Given the description of an element on the screen output the (x, y) to click on. 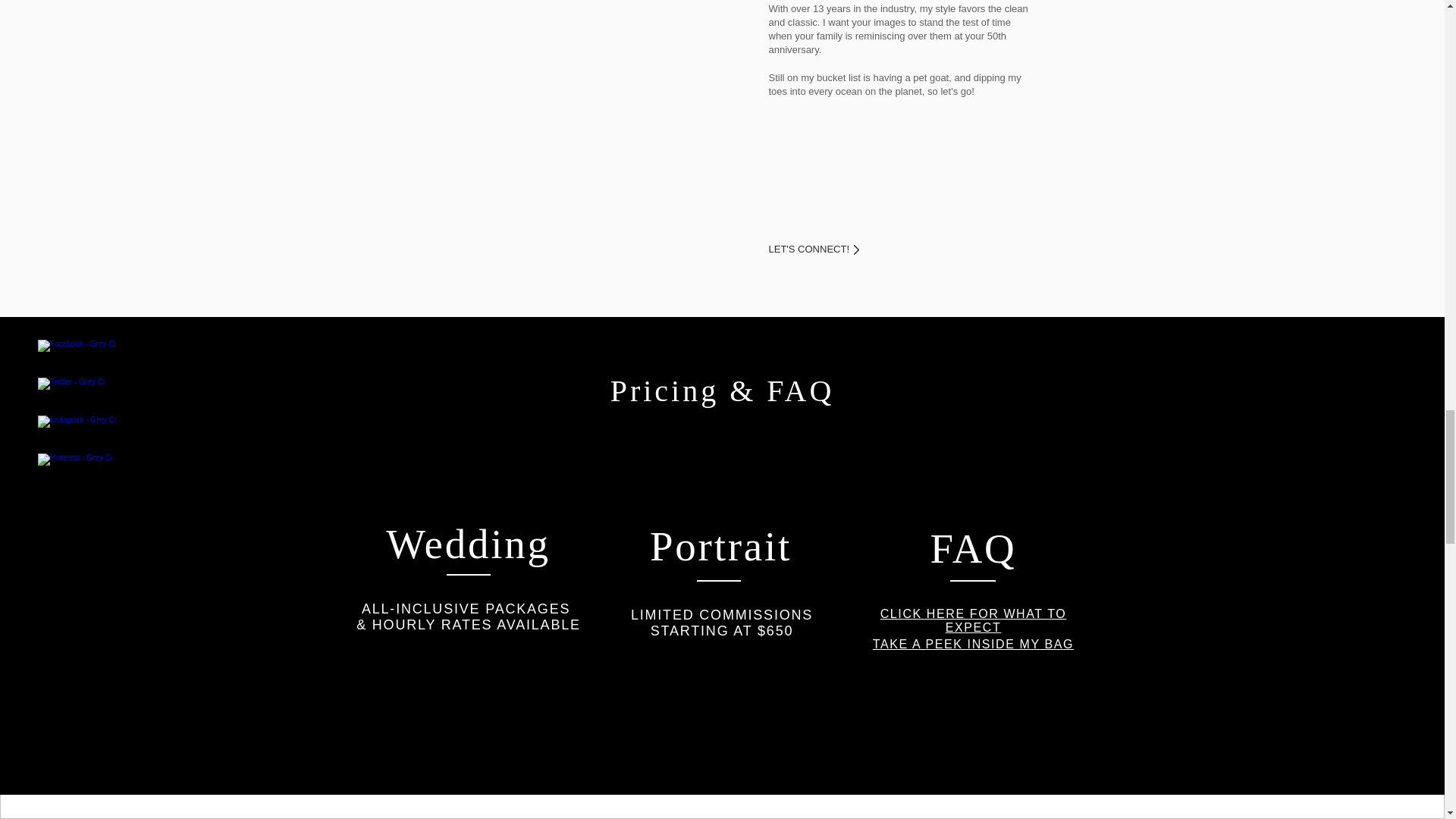
TAKE A PEEK INSIDE MY BAG (973, 644)
CLICK HERE FOR WHAT TO EXPECT (973, 620)
LET'S CONNECT! (822, 250)
